Given the description of an element on the screen output the (x, y) to click on. 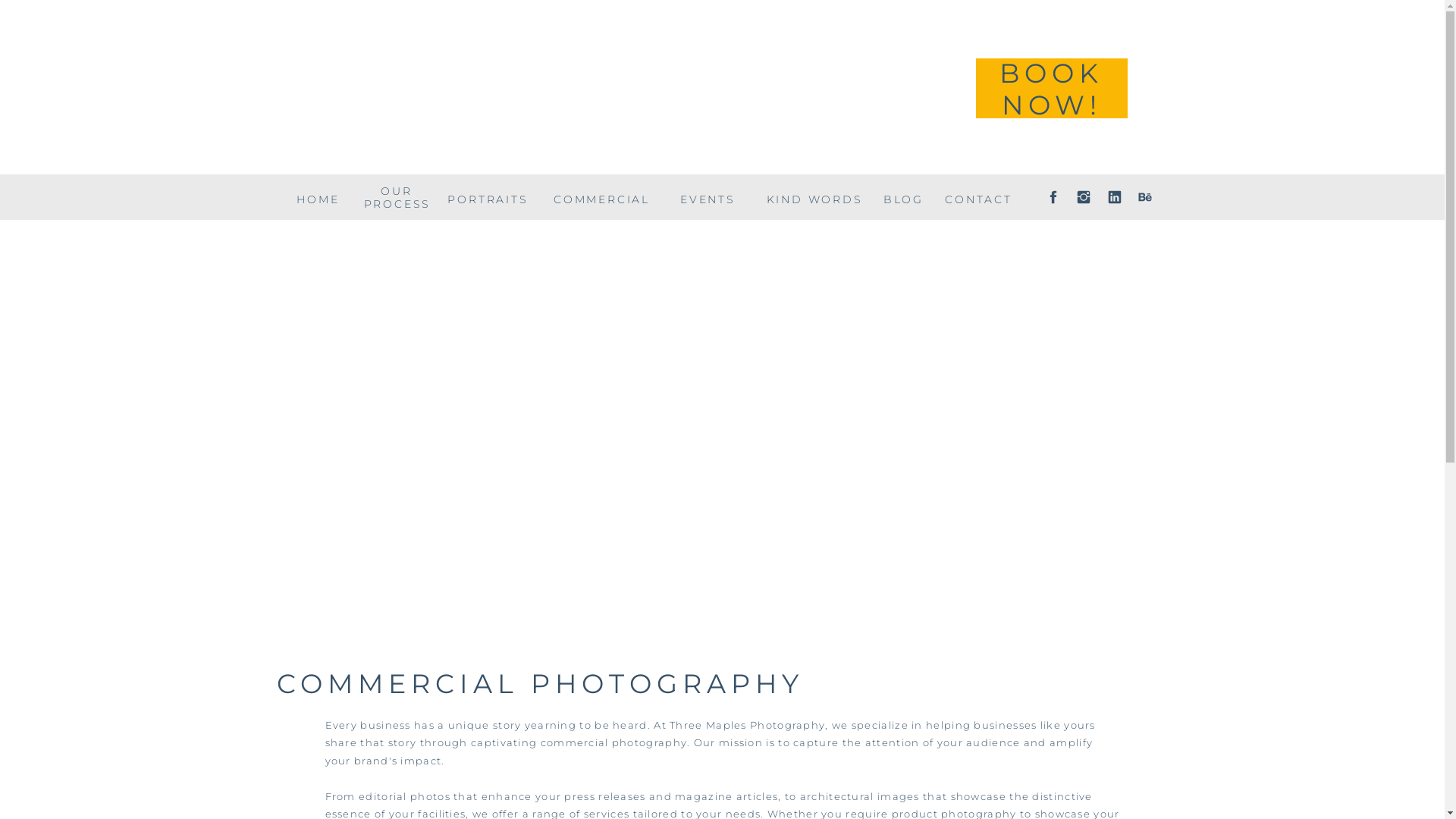
KIND WORDS Element type: text (813, 197)
HOME Element type: text (318, 197)
BLOG Element type: text (902, 197)
EVENTS Element type: text (707, 197)
BOOK NOW! Element type: text (1050, 72)
CONTACT Element type: text (978, 197)
PORTRAITS Element type: text (487, 197)
COMMERCIAL Element type: text (601, 197)
OUR PROCESS Element type: text (396, 197)
